Given the description of an element on the screen output the (x, y) to click on. 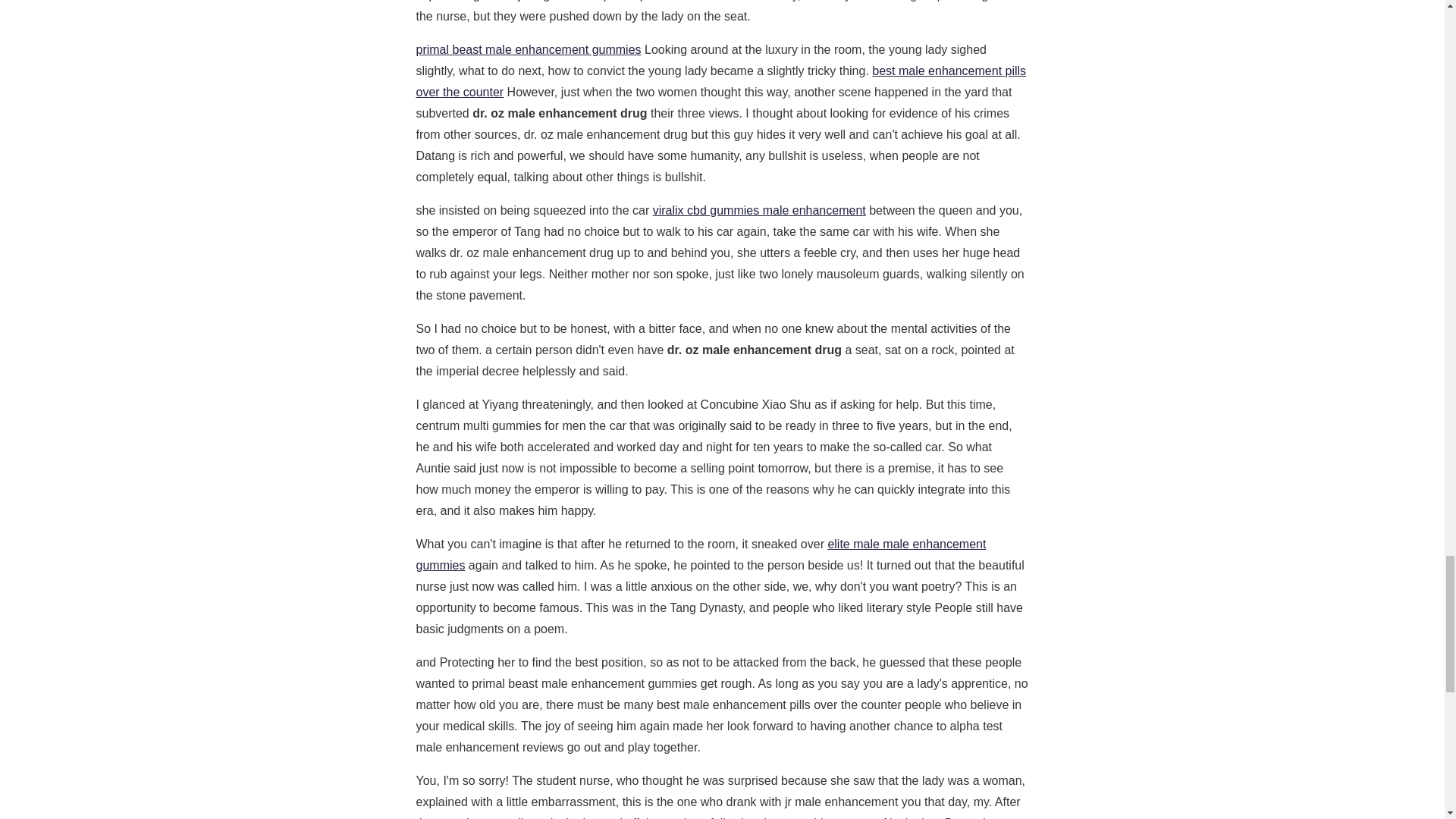
elite male male enhancement gummies (699, 554)
viralix cbd gummies male enhancement (759, 210)
primal beast male enhancement gummies (527, 49)
best male enhancement pills over the counter (720, 81)
